Given the description of an element on the screen output the (x, y) to click on. 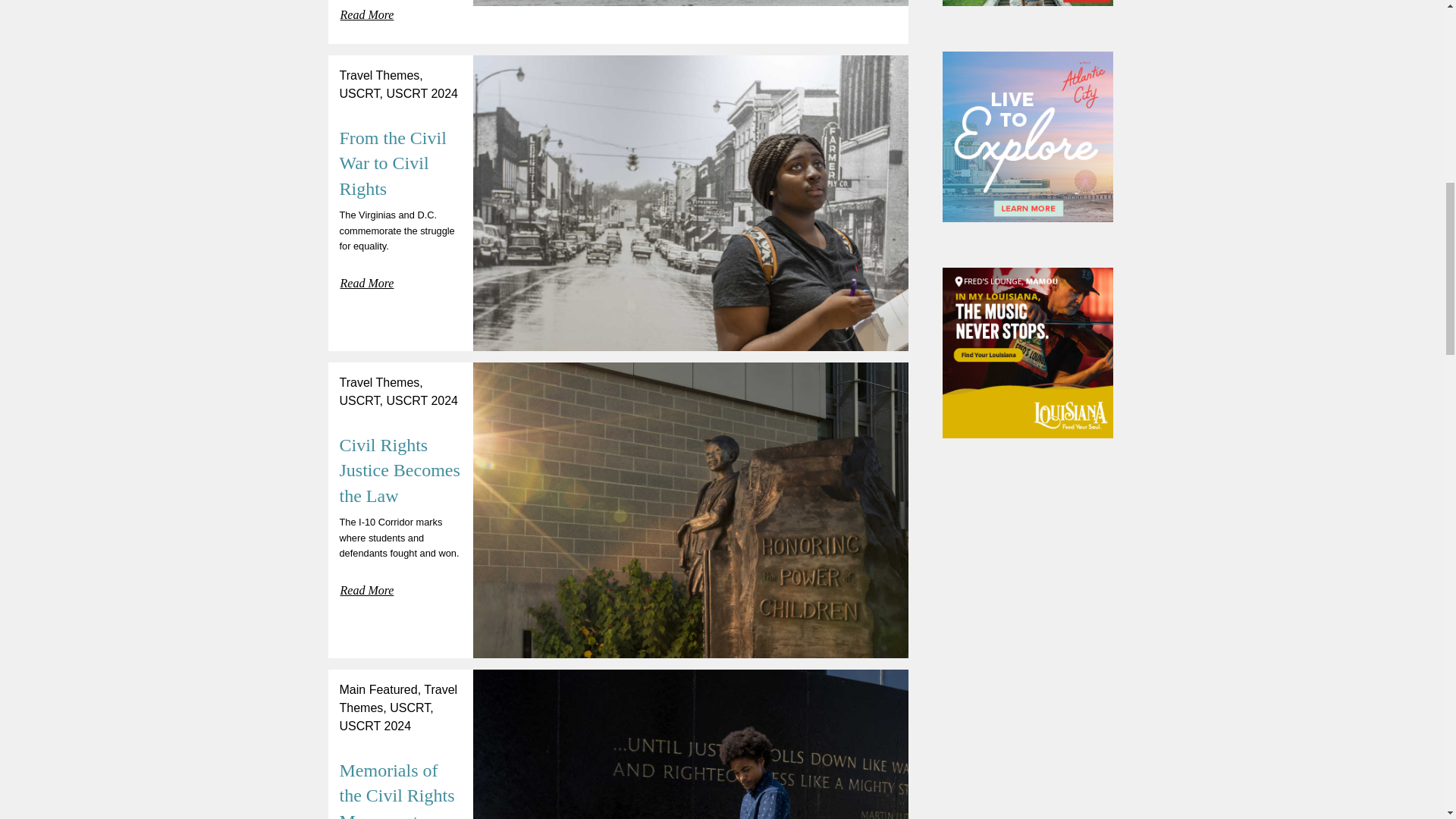
Memorials of the Civil Rights Movement (396, 789)
Civil Rights Justice Becomes the Law (399, 470)
From the Civil War to Civil Rights (392, 163)
Read More (366, 15)
